Given the description of an element on the screen output the (x, y) to click on. 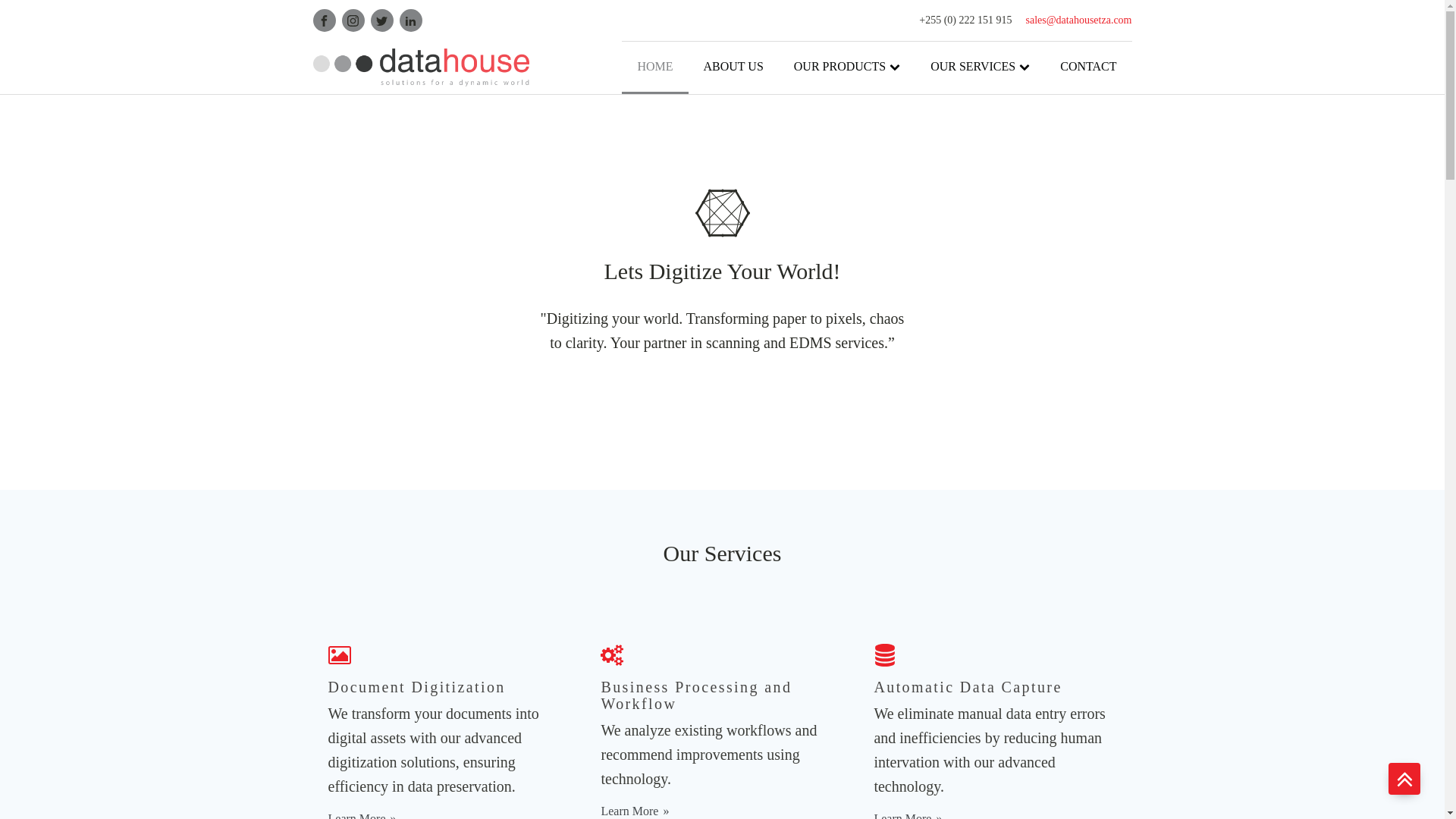
OUR SERVICES (980, 67)
OUR PRODUCTS (846, 67)
HOME (654, 67)
Document Destruction (1017, 268)
Archive Setup (1014, 281)
Document Digitization (1007, 302)
ABOUT US (733, 67)
ID Cards Printing (1020, 262)
Automatic Data Capture (1011, 287)
Learn More (907, 814)
Image Access Scanners (964, 159)
Document Sorting (1016, 274)
CONTACT (1088, 67)
Software (835, 170)
Ricoh Scanners (967, 160)
